Given the description of an element on the screen output the (x, y) to click on. 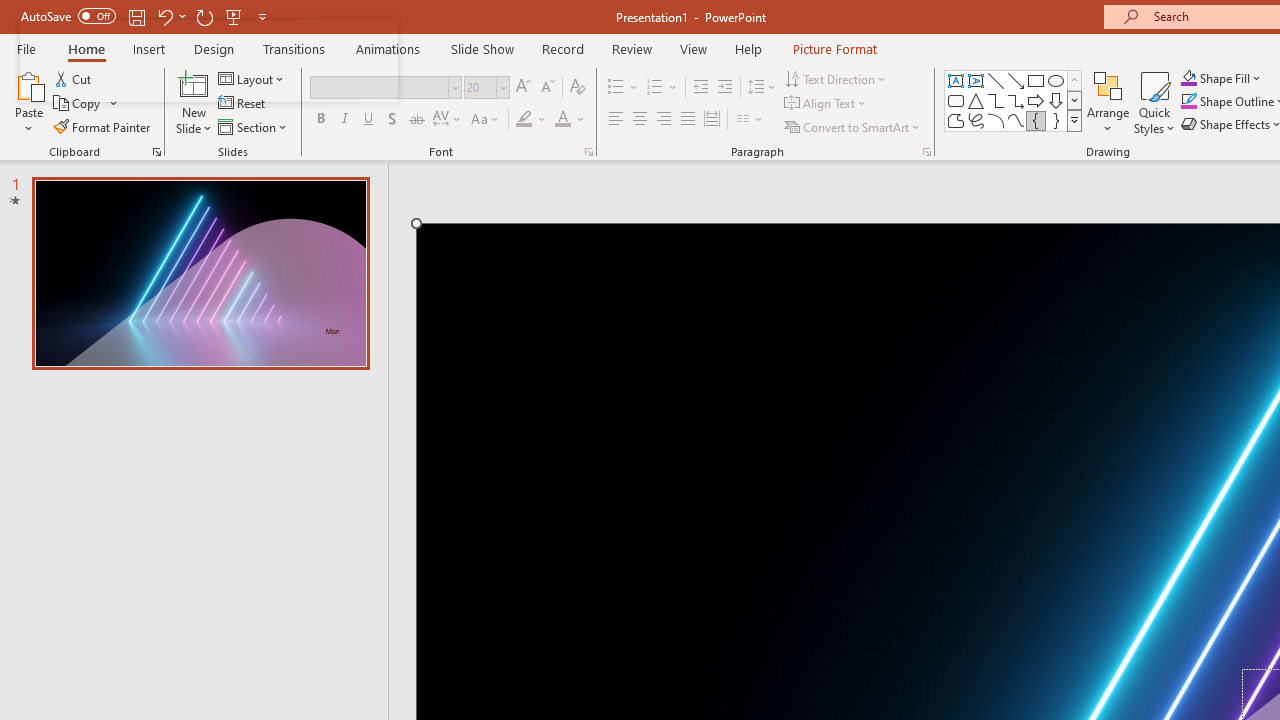
Align Left (616, 119)
Bullets (623, 87)
Office Clipboard... (156, 151)
New Slide (193, 102)
Row Down (1074, 100)
Layout (252, 78)
Help (748, 48)
Class: NetUIImage (1075, 120)
Rectangle: Rounded Corners (955, 100)
Connector: Elbow Arrow (1016, 100)
Decrease Font Size (547, 87)
Home (86, 48)
Transitions (294, 48)
Strikethrough (416, 119)
Font Size (480, 87)
